Given the description of an element on the screen output the (x, y) to click on. 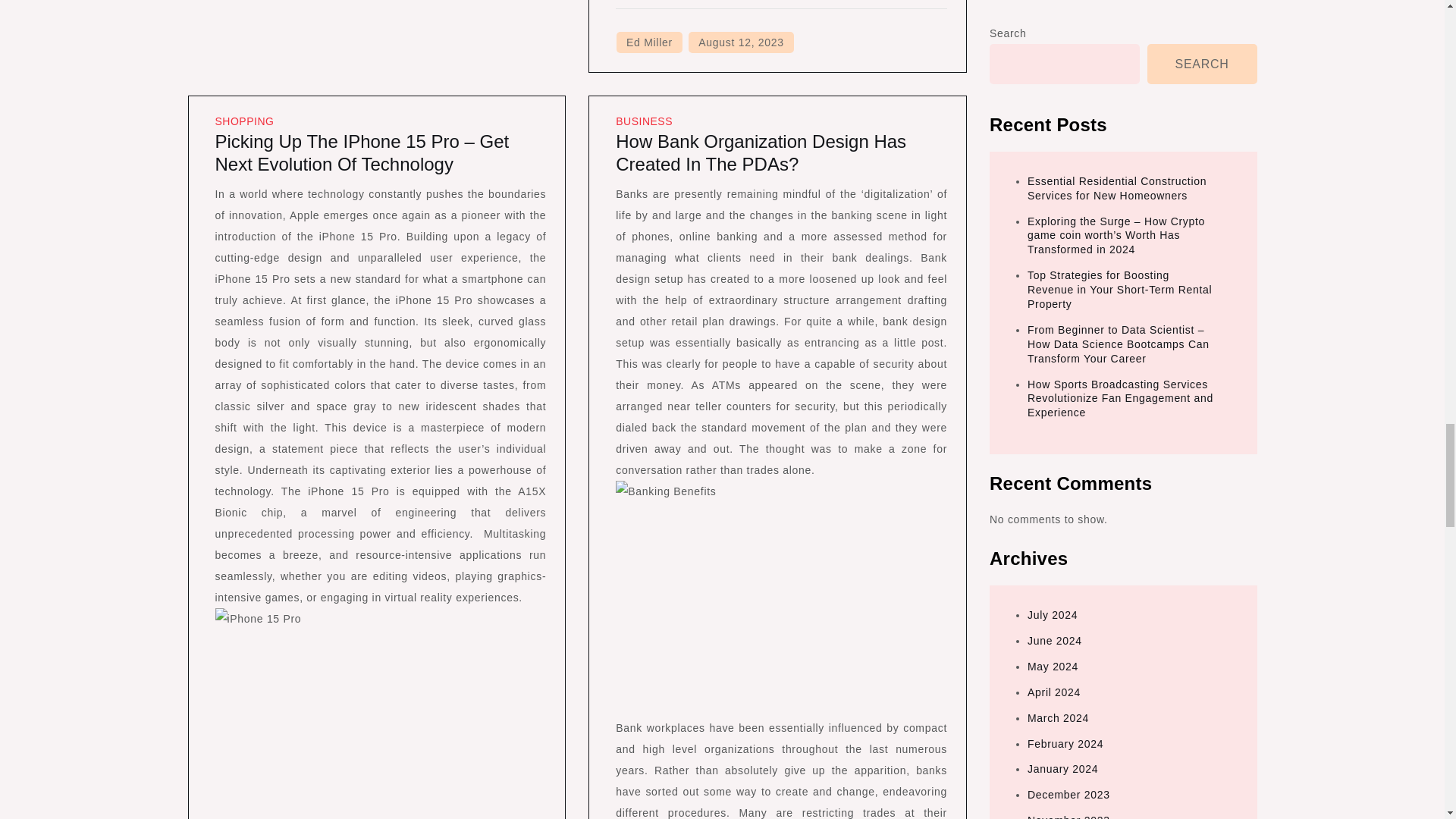
SHOPPING (245, 121)
Ed Miller (648, 42)
BUSINESS (643, 121)
How Bank Organization Design Has Created In The PDAs? (760, 152)
August 12, 2023 (740, 42)
